Given the description of an element on the screen output the (x, y) to click on. 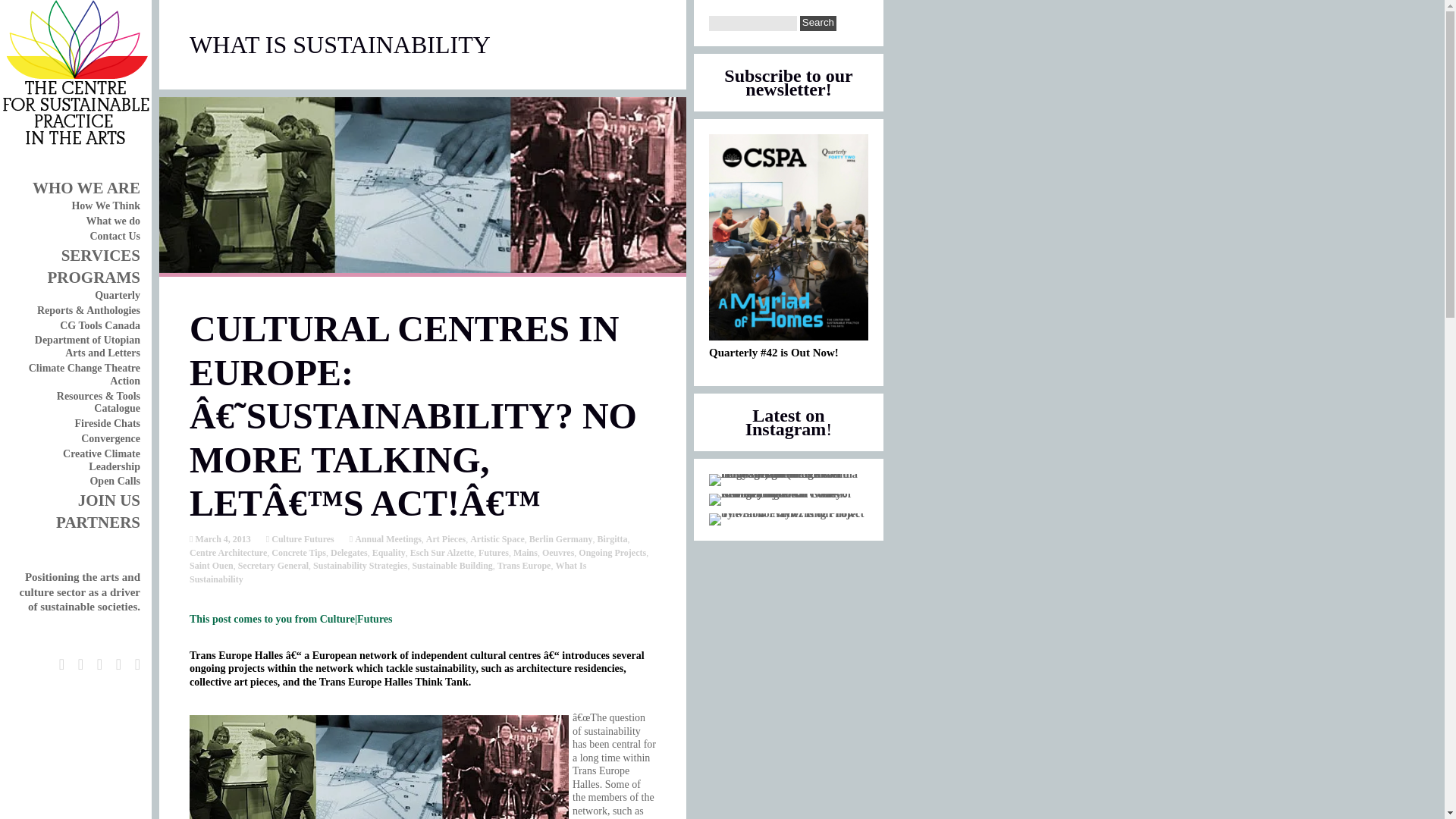
Creative Climate Leadership (100, 459)
JOIN US (108, 500)
Art Pieces (445, 538)
Search (817, 23)
Contact Us (113, 235)
Artistic Space (497, 538)
Climate Change Theatre Action (84, 374)
Convergence (110, 438)
March 4, 2013 (221, 538)
